Given the description of an element on the screen output the (x, y) to click on. 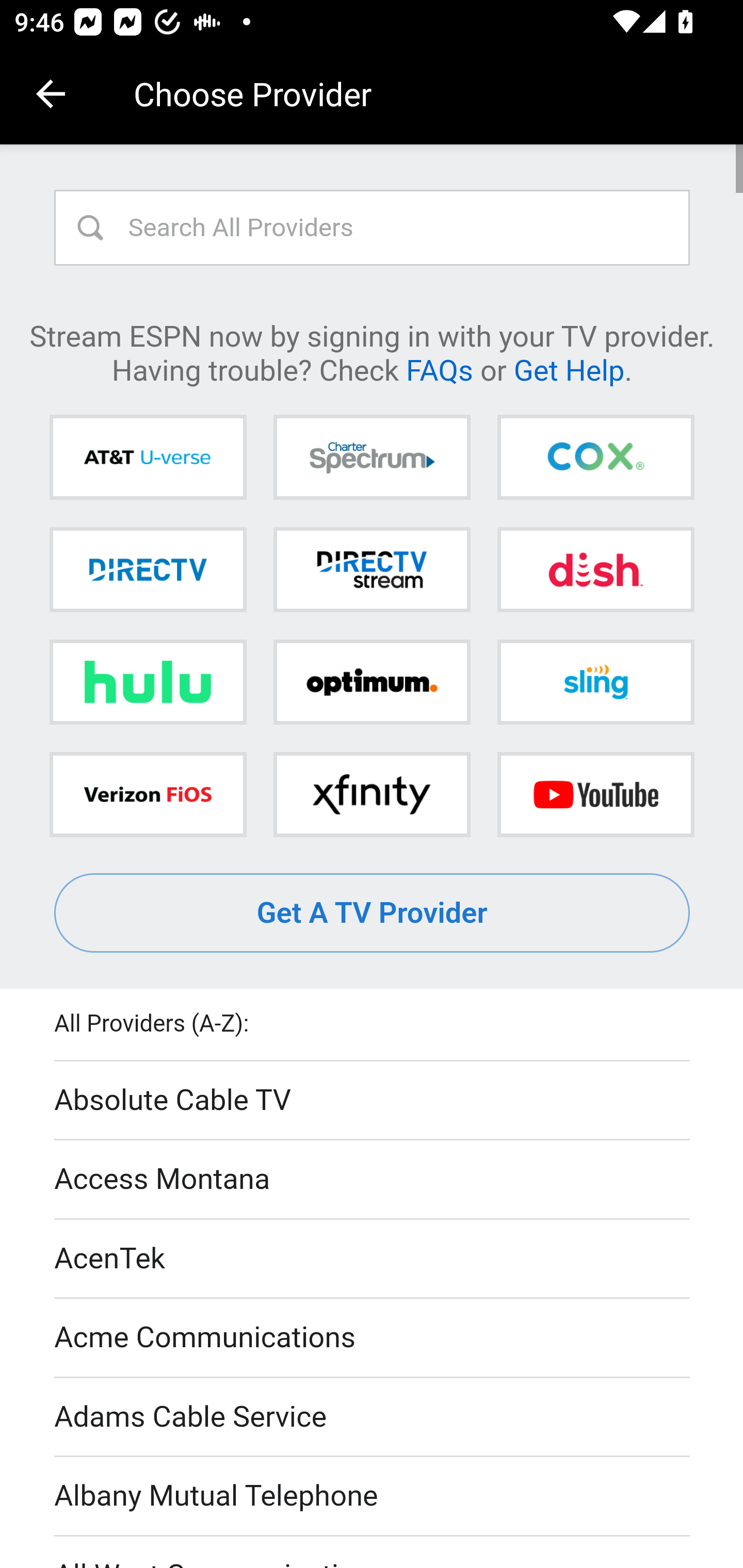
Navigate up (50, 93)
FAQs (438, 369)
Get Help (569, 369)
AT&T U-verse (147, 457)
Charter Spectrum (371, 457)
Cox (595, 457)
DIRECTV (147, 568)
DIRECTV STREAM (371, 568)
DISH (595, 568)
Hulu (147, 681)
Optimum (371, 681)
Sling TV (595, 681)
Verizon FiOS (147, 793)
Xfinity (371, 793)
YouTube TV (595, 793)
Get A TV Provider (372, 912)
Absolute Cable TV (372, 1100)
Access Montana (372, 1178)
AcenTek (372, 1258)
Acme Communications (372, 1338)
Adams Cable Service (372, 1417)
Albany Mutual Telephone (372, 1497)
